Given the description of an element on the screen output the (x, y) to click on. 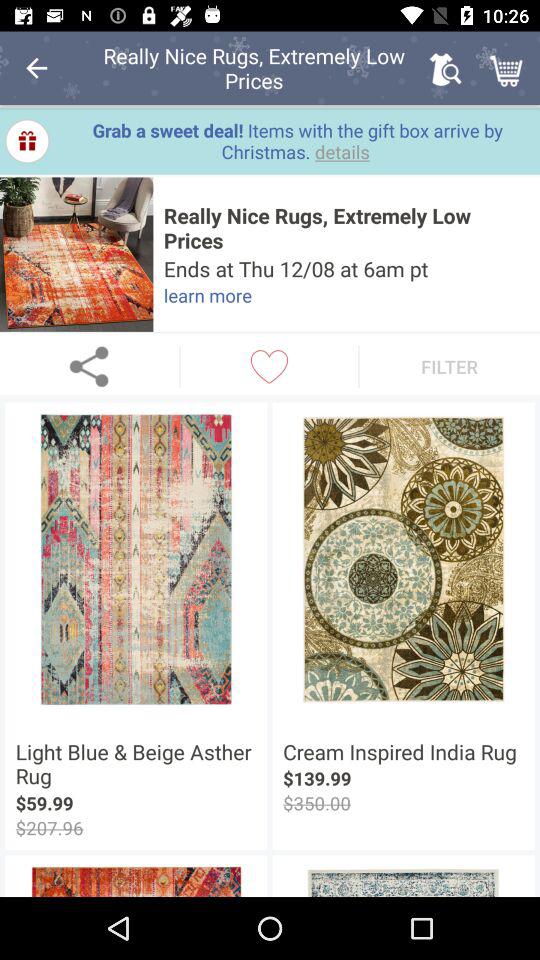
photo (76, 254)
